Given the description of an element on the screen output the (x, y) to click on. 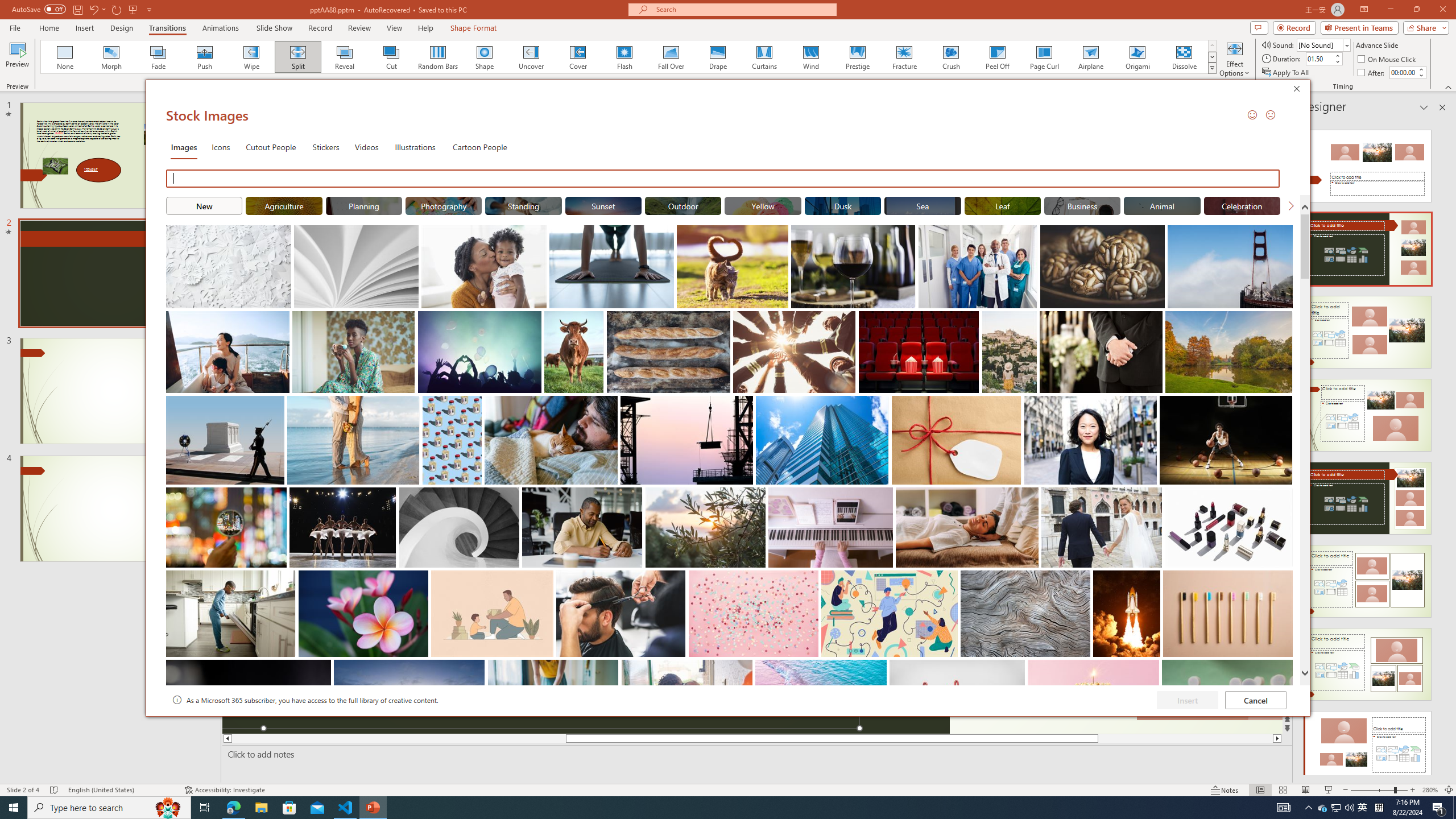
File Explorer (261, 807)
"Planning" Stock Images. (363, 205)
Row up (1212, 45)
Next Search Suggestion (1290, 205)
Duration (1319, 58)
"Animal" Stock Images. (1162, 205)
Sound (1324, 44)
